Given the description of an element on the screen output the (x, y) to click on. 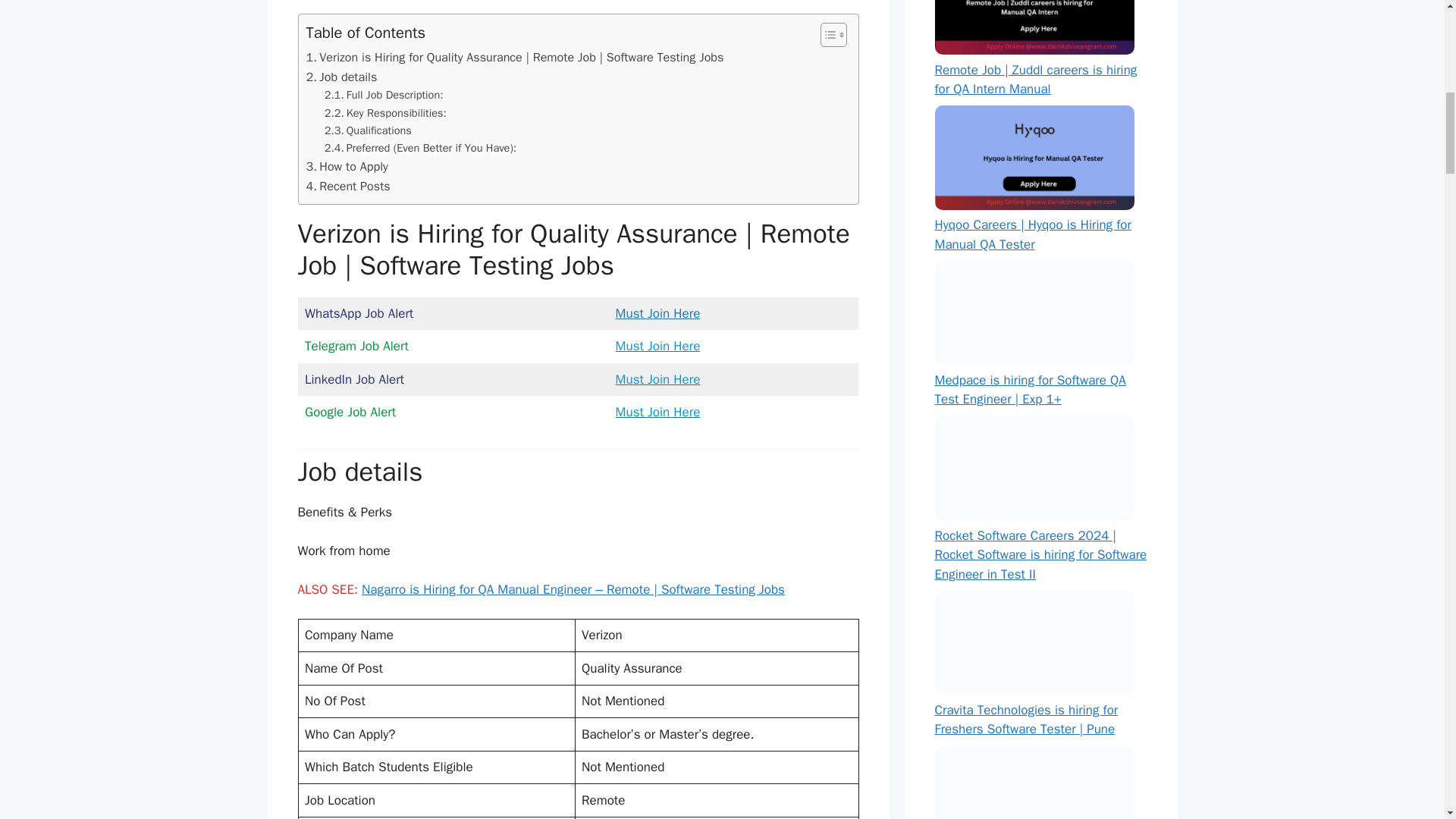
Recent Posts (347, 186)
Recent Posts (347, 186)
Qualifications (368, 130)
Must Join Here (657, 313)
Qualifications (368, 130)
Must Join Here (657, 379)
Job details (341, 76)
Must Join Here (657, 412)
Full Job Description: (384, 95)
Key Responsibilities: (385, 113)
